Given the description of an element on the screen output the (x, y) to click on. 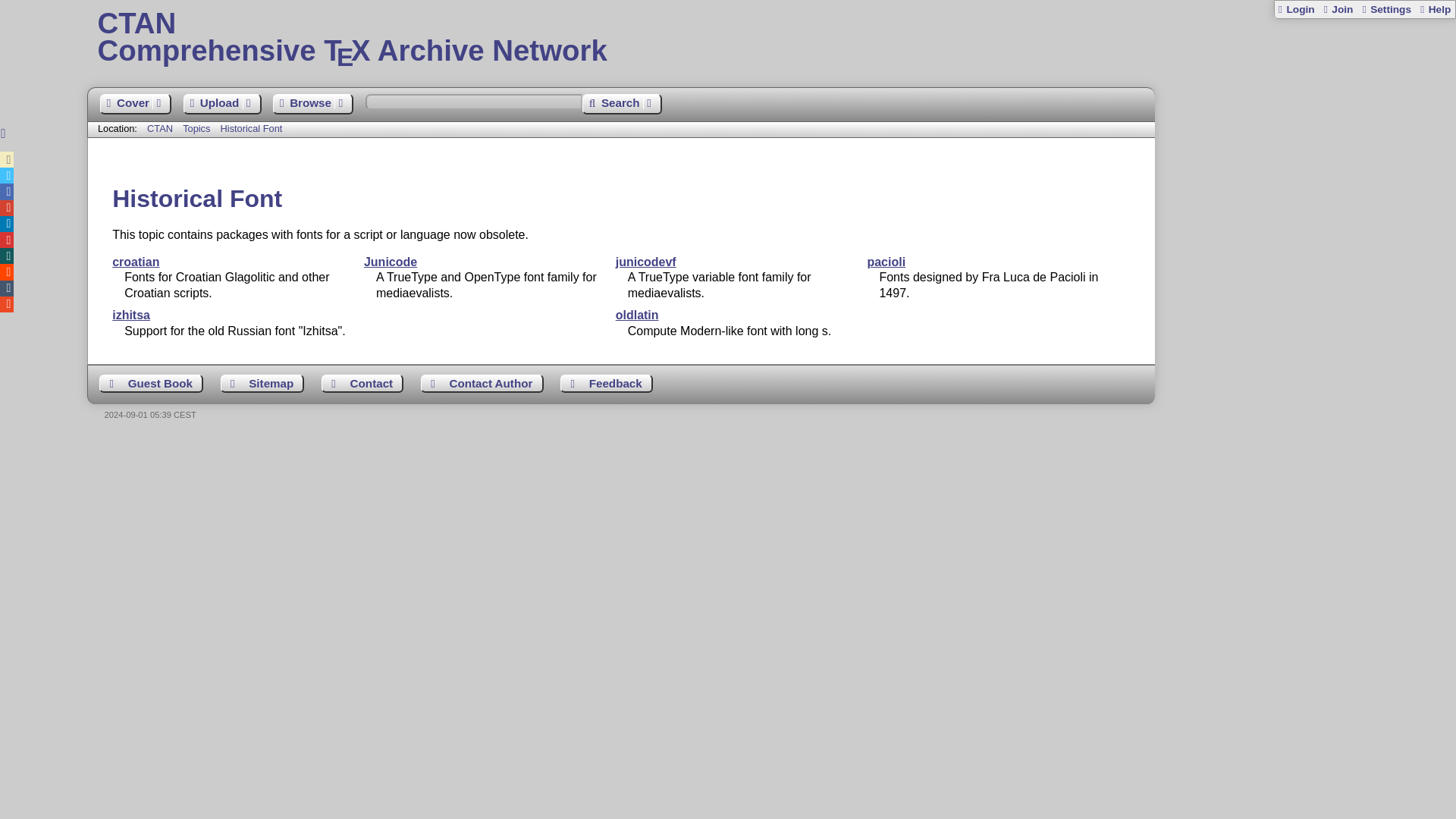
Browse (313, 104)
Send feedback on the current web page to the Web masters (606, 383)
Search (622, 104)
Show the structure of this site (262, 383)
Get contact information for the Web site (362, 383)
Upload (222, 104)
Sitemap (262, 383)
Login with your personal account (1296, 8)
Junicode (390, 261)
Cover (135, 104)
